Given the description of an element on the screen output the (x, y) to click on. 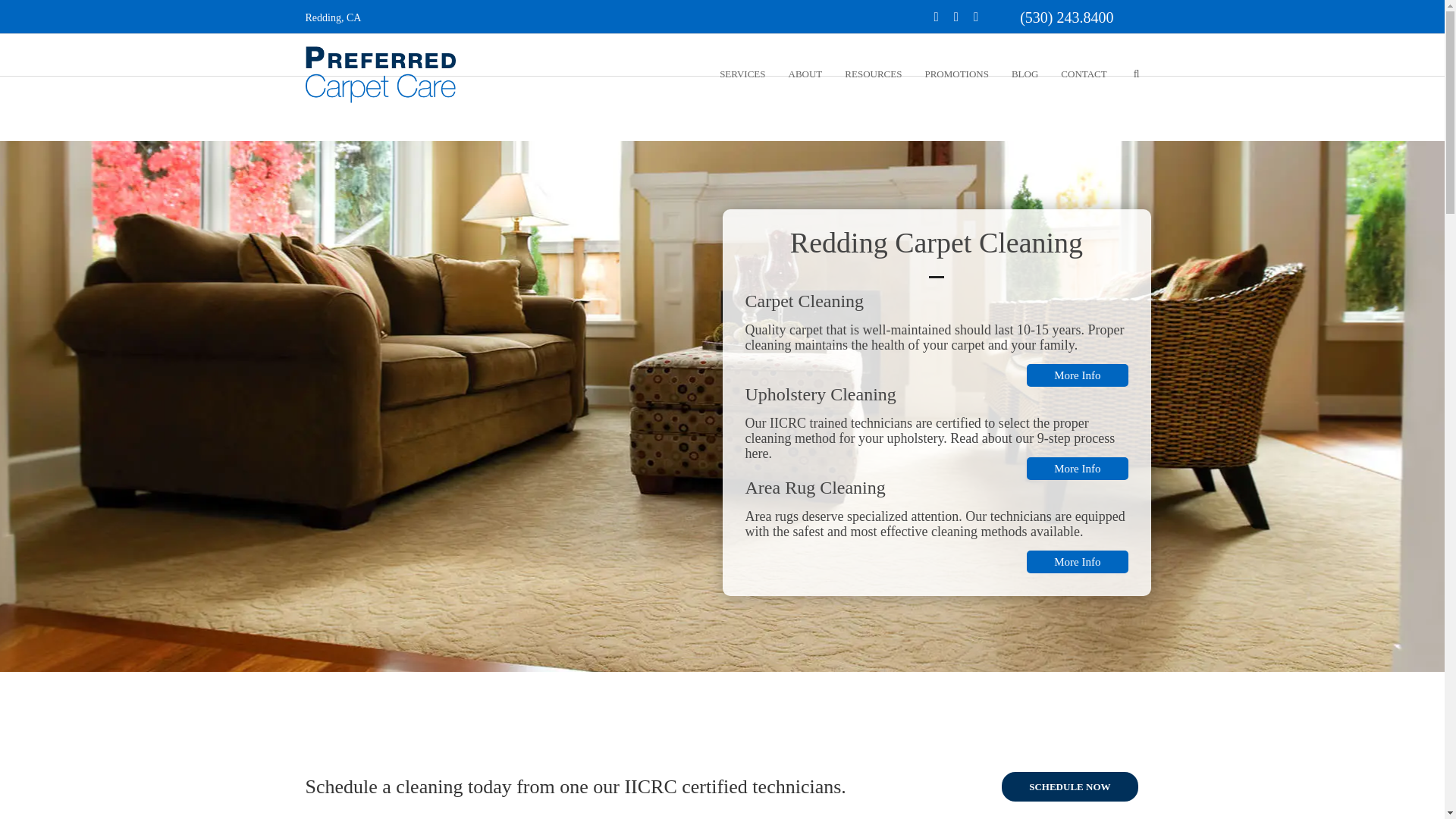
Area Rug Cleaning (1076, 561)
Carpet Cleaning (1076, 374)
Upholstery Cleaning (1076, 468)
SERVICES (742, 74)
